Given the description of an element on the screen output the (x, y) to click on. 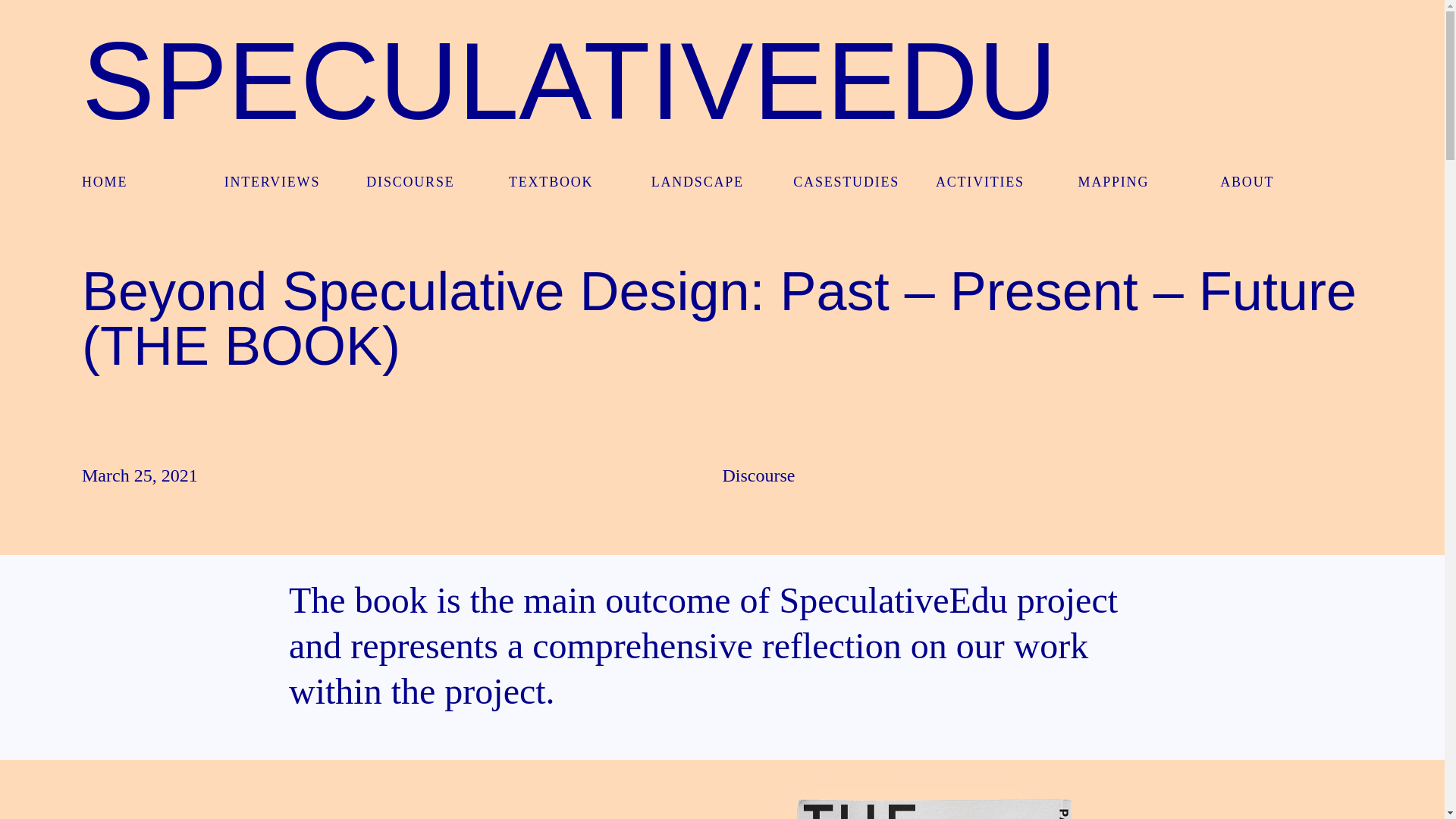
ACTIVITIES (1007, 181)
INTERVIEWS (295, 181)
CASESTUDIES (864, 181)
Discourse (758, 475)
HOME (152, 181)
DISCOURSE (437, 181)
TEXTBOOK (579, 181)
LANDSCAPE (721, 181)
ABOUT (1291, 181)
MAPPING (1149, 181)
